Given the description of an element on the screen output the (x, y) to click on. 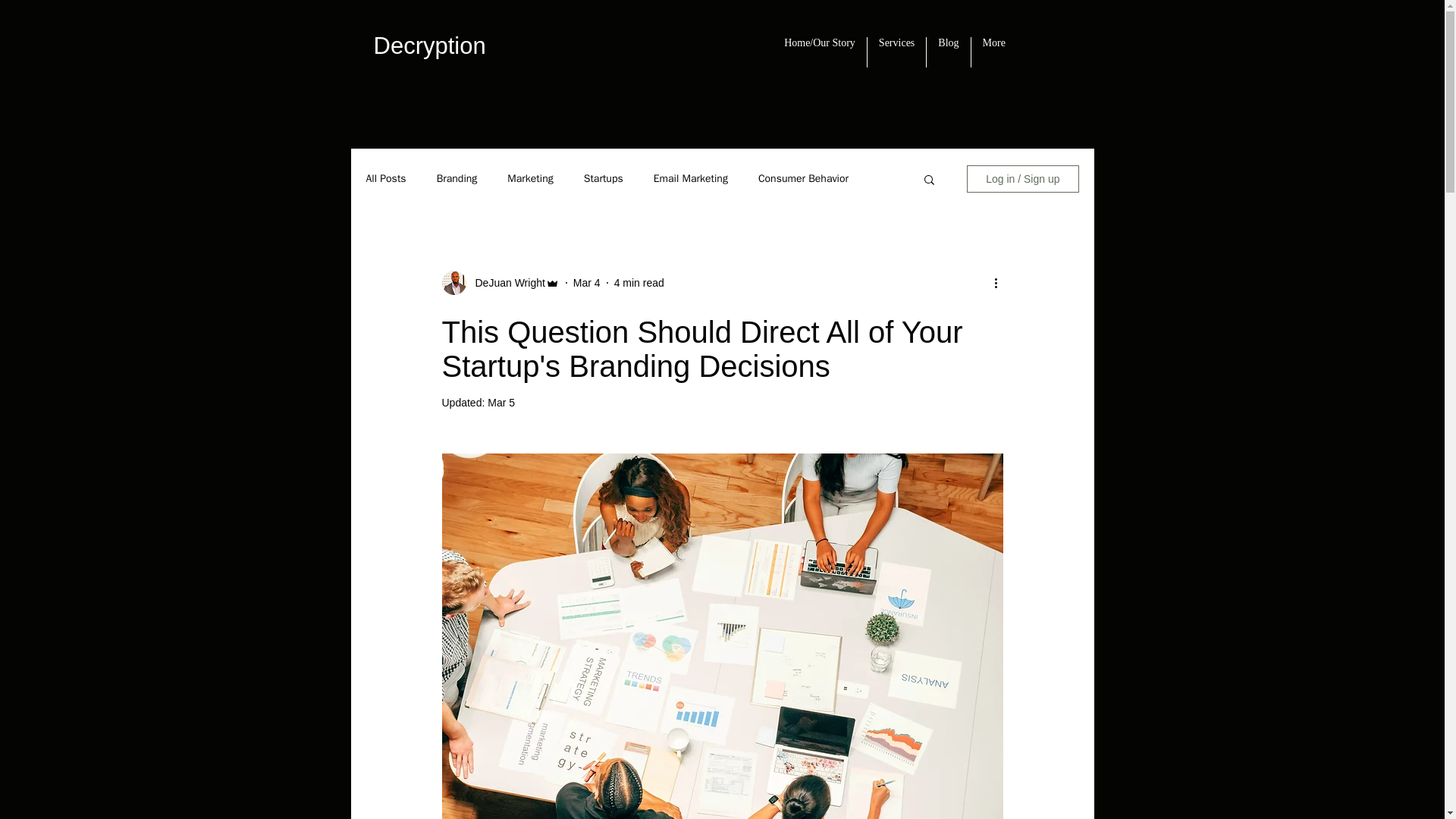
All Posts (385, 178)
DeJuan Wright (504, 282)
Mar 4 (586, 282)
Branding (456, 178)
Startups (603, 178)
Email Marketing (690, 178)
Decryption (428, 45)
Blog (947, 51)
4 min read (638, 282)
Consumer Behavior (803, 178)
